Given the description of an element on the screen output the (x, y) to click on. 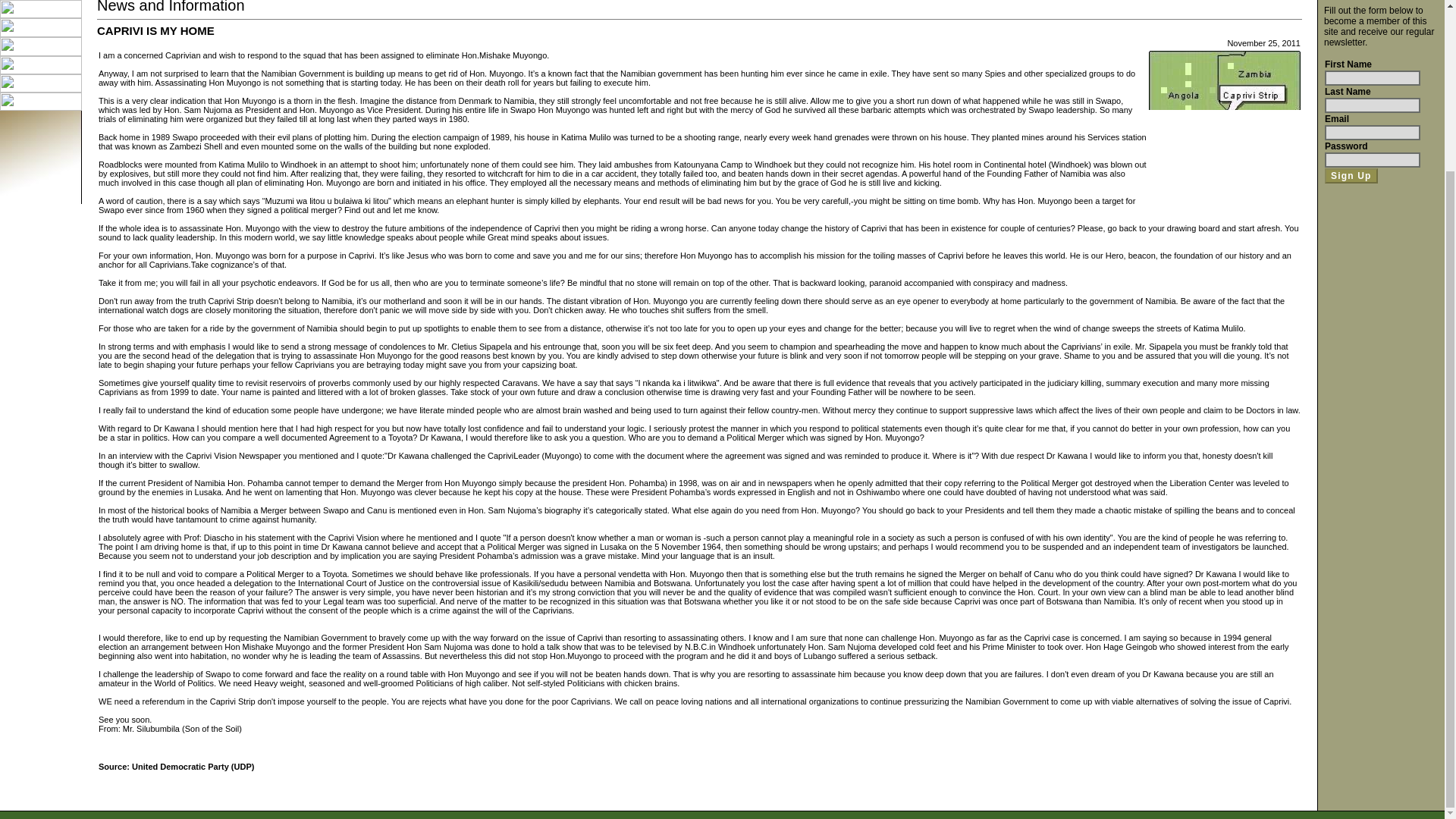
Sign Up (1350, 175)
Sign Up (1350, 175)
